Given the description of an element on the screen output the (x, y) to click on. 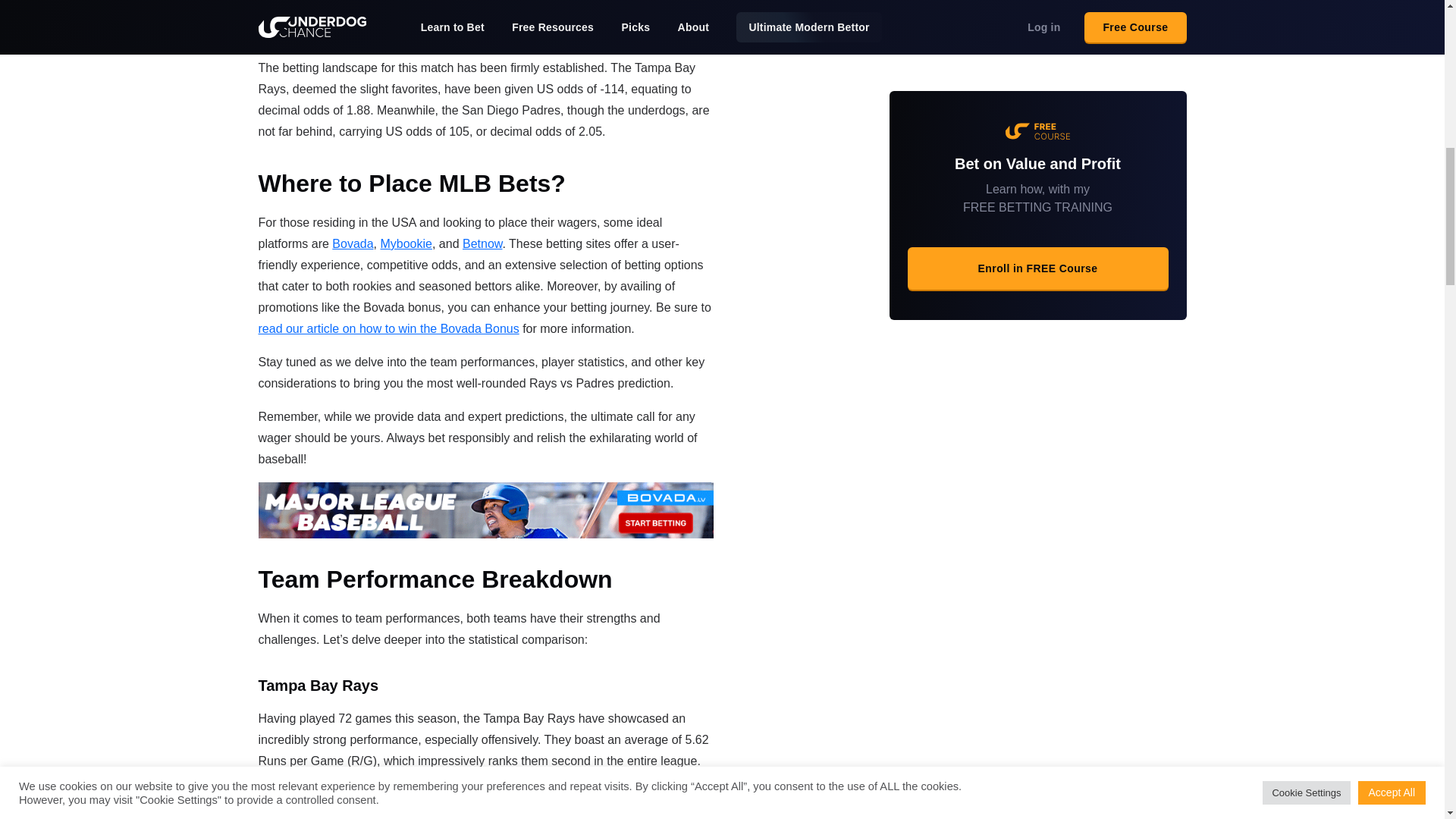
Enroll in FREE Course (1037, 222)
Mybookie (405, 243)
See full list (1037, 0)
read our article on how to win the Bovada Bonus (387, 328)
Bovada (351, 243)
Betnow (482, 243)
